Given the description of an element on the screen output the (x, y) to click on. 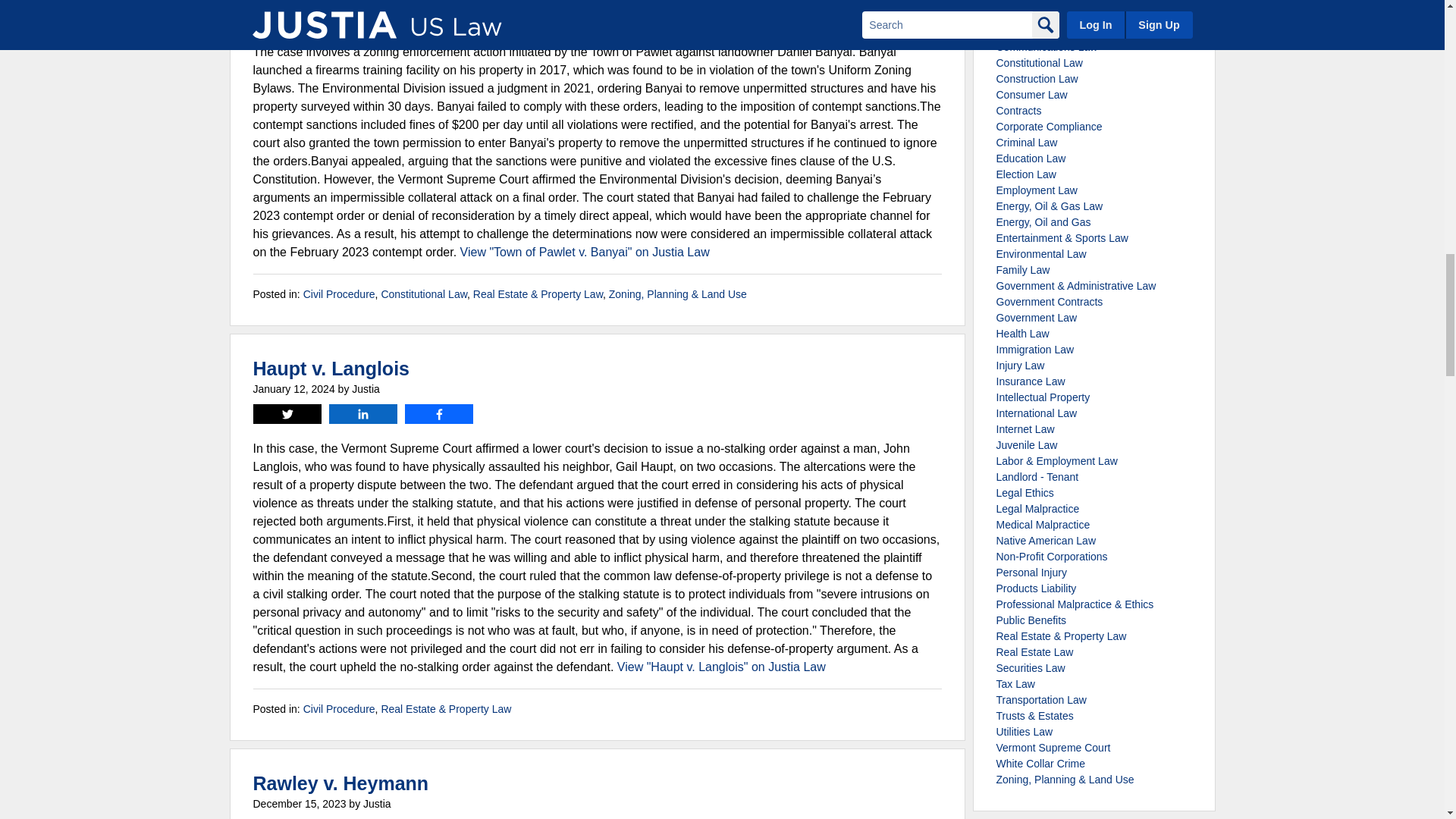
Permalink to Haupt v. Langlois (331, 368)
View all posts in Constitutional Law (423, 294)
View all posts in Civil Procedure (338, 294)
View all posts in Civil Procedure (338, 708)
